Given the description of an element on the screen output the (x, y) to click on. 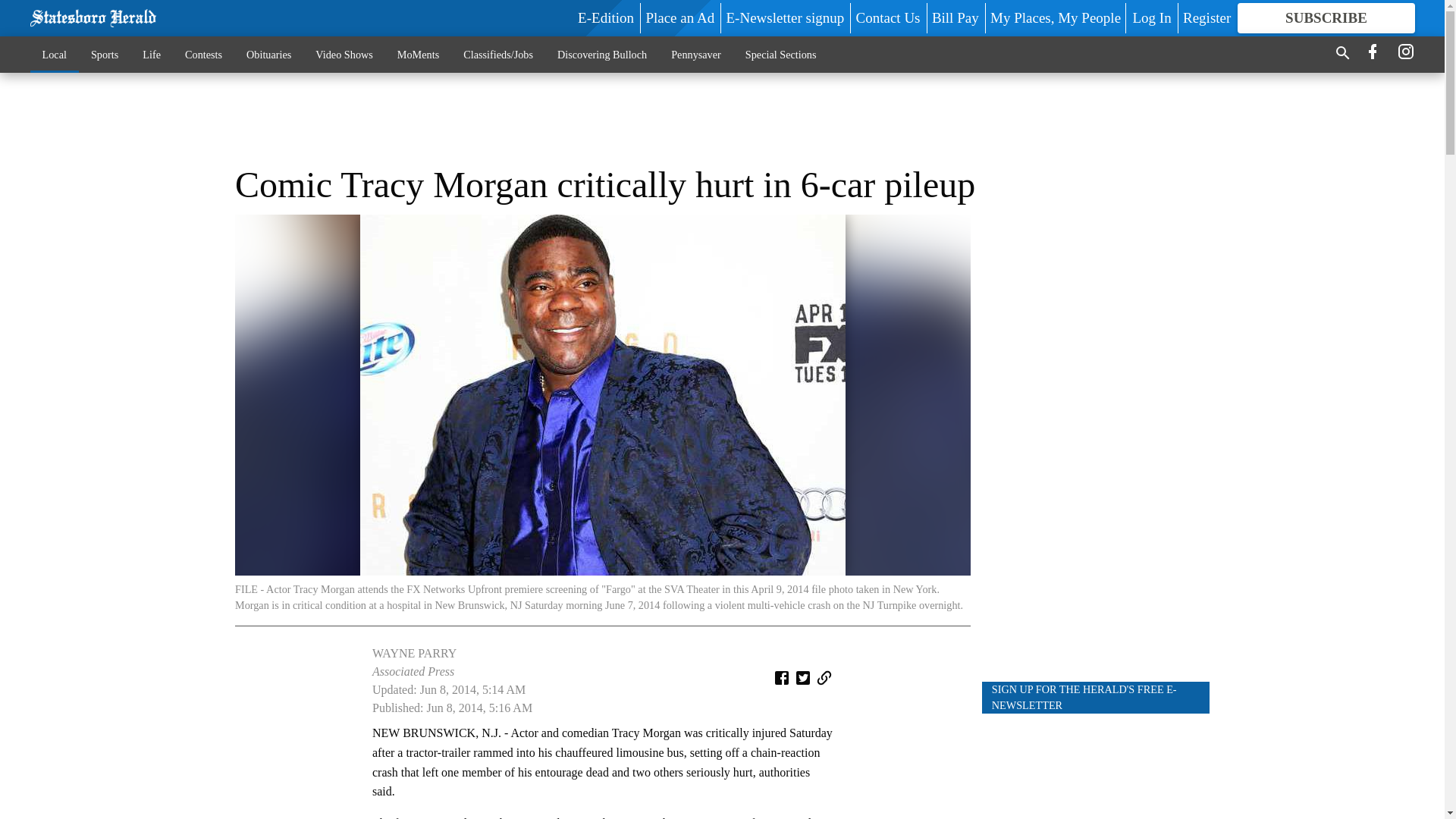
E-Edition (605, 17)
Discovering Bulloch (601, 54)
Contact Us (888, 17)
Sports (104, 54)
Place an Ad (679, 17)
Video Shows (343, 54)
Special Sections (780, 54)
Log In (1151, 17)
E-Newsletter signup (785, 17)
3rd party ad content (1095, 441)
Register (1206, 17)
Life (152, 54)
Bill Pay (954, 17)
My Places, My People (1055, 17)
MoMents (418, 54)
